Given the description of an element on the screen output the (x, y) to click on. 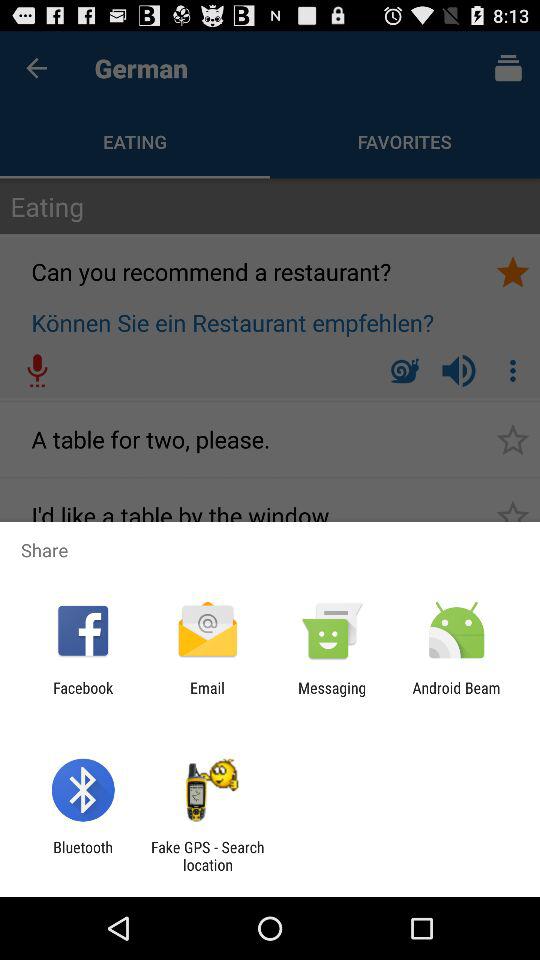
tap the icon to the right of the facebook app (207, 696)
